Given the description of an element on the screen output the (x, y) to click on. 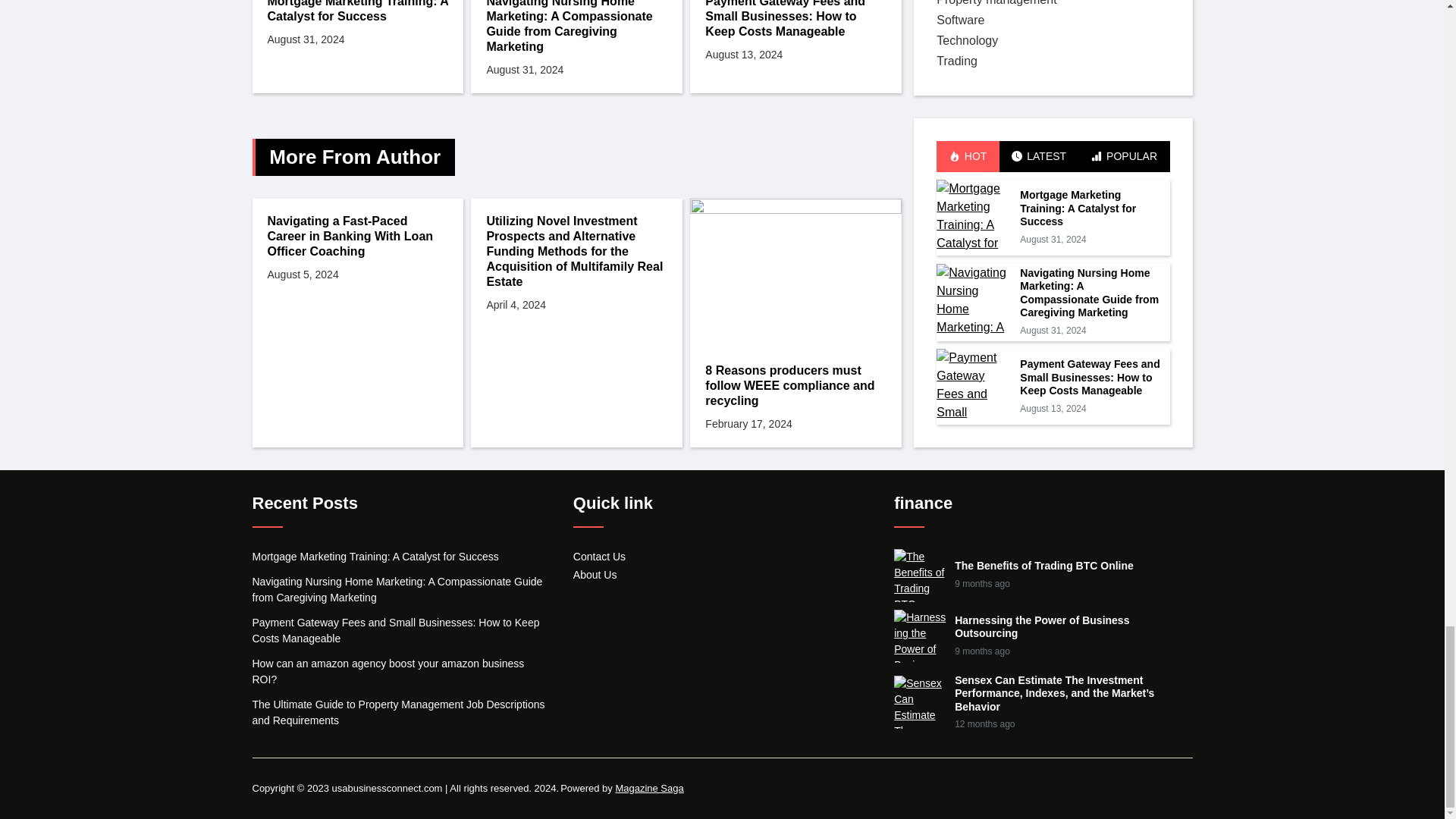
Mortgage Marketing Training: A Catalyst for Success (357, 12)
